Given the description of an element on the screen output the (x, y) to click on. 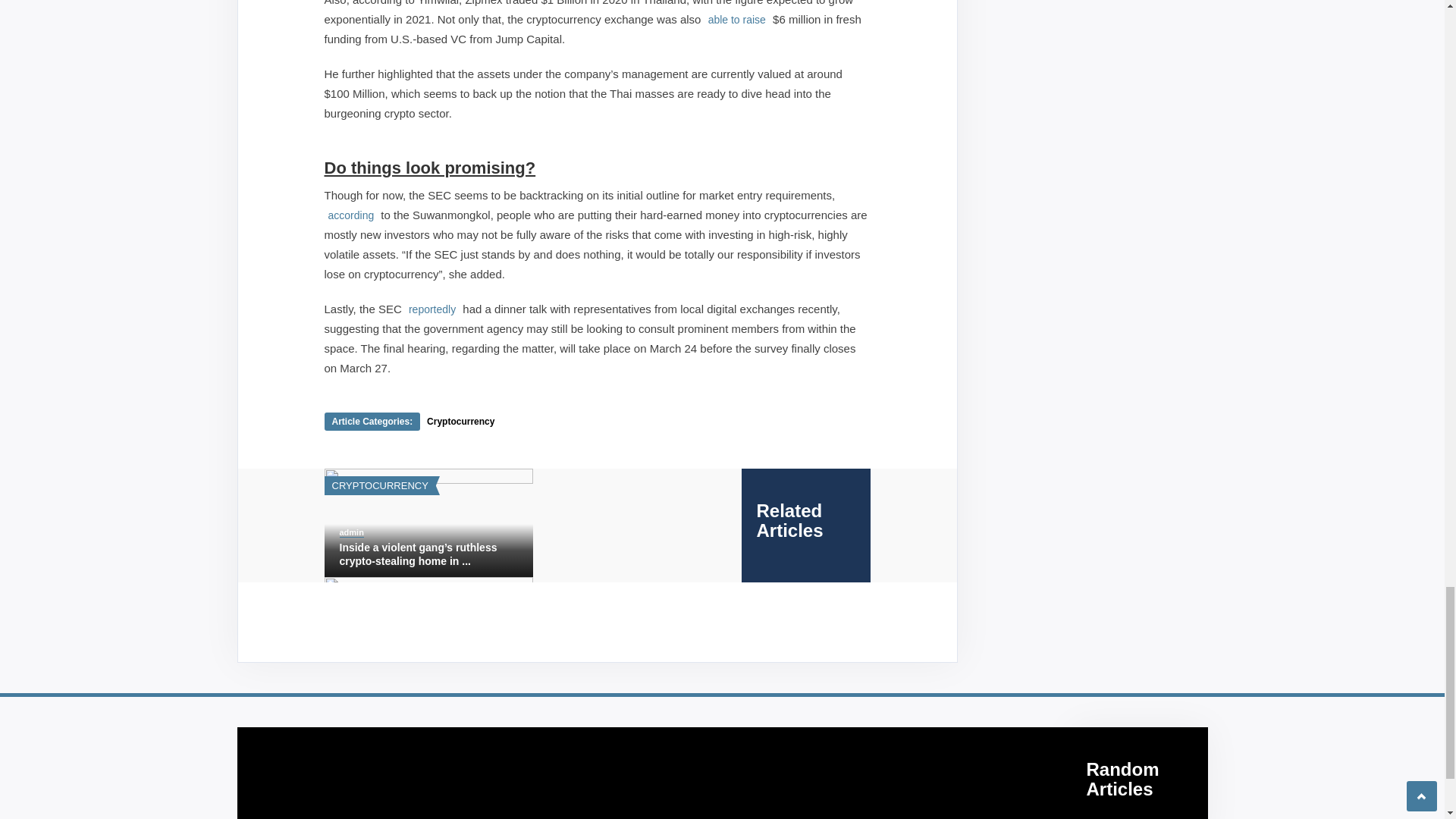
CRYPTOCURRENCY (379, 485)
Cryptocurrency (460, 421)
according (351, 214)
Posts by admin (351, 532)
reportedly (432, 308)
able to raise (737, 19)
admin (351, 532)
View all posts in Cryptocurrency (379, 485)
